Given the description of an element on the screen output the (x, y) to click on. 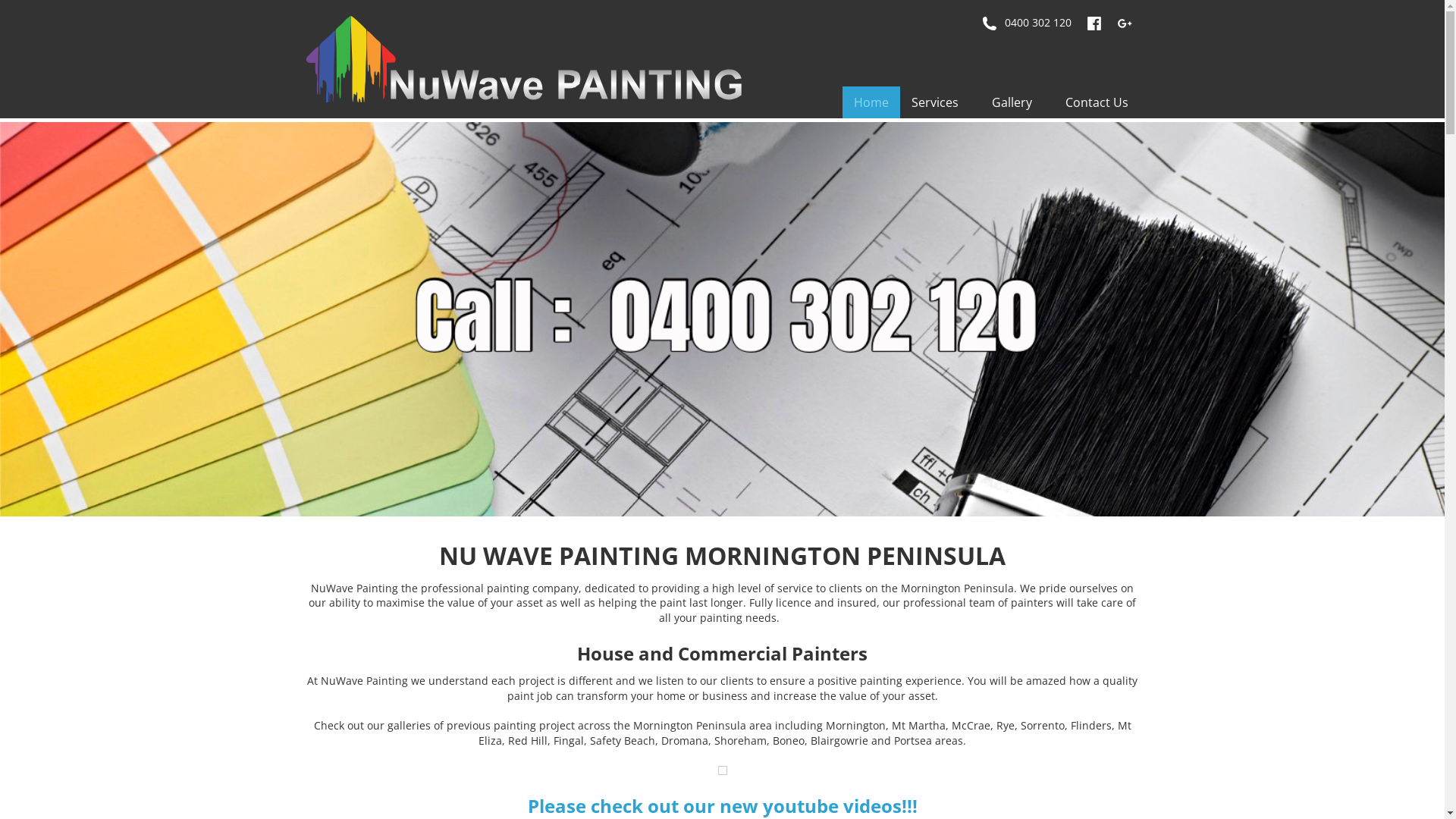
Contact Us Element type: text (1096, 102)
Services Element type: text (939, 102)
0400 302 120 Element type: text (1025, 22)
Home Element type: text (870, 102)
Please check out our new youtube videos!!! Element type: text (722, 805)
Gallery Element type: text (1016, 102)
